Given the description of an element on the screen output the (x, y) to click on. 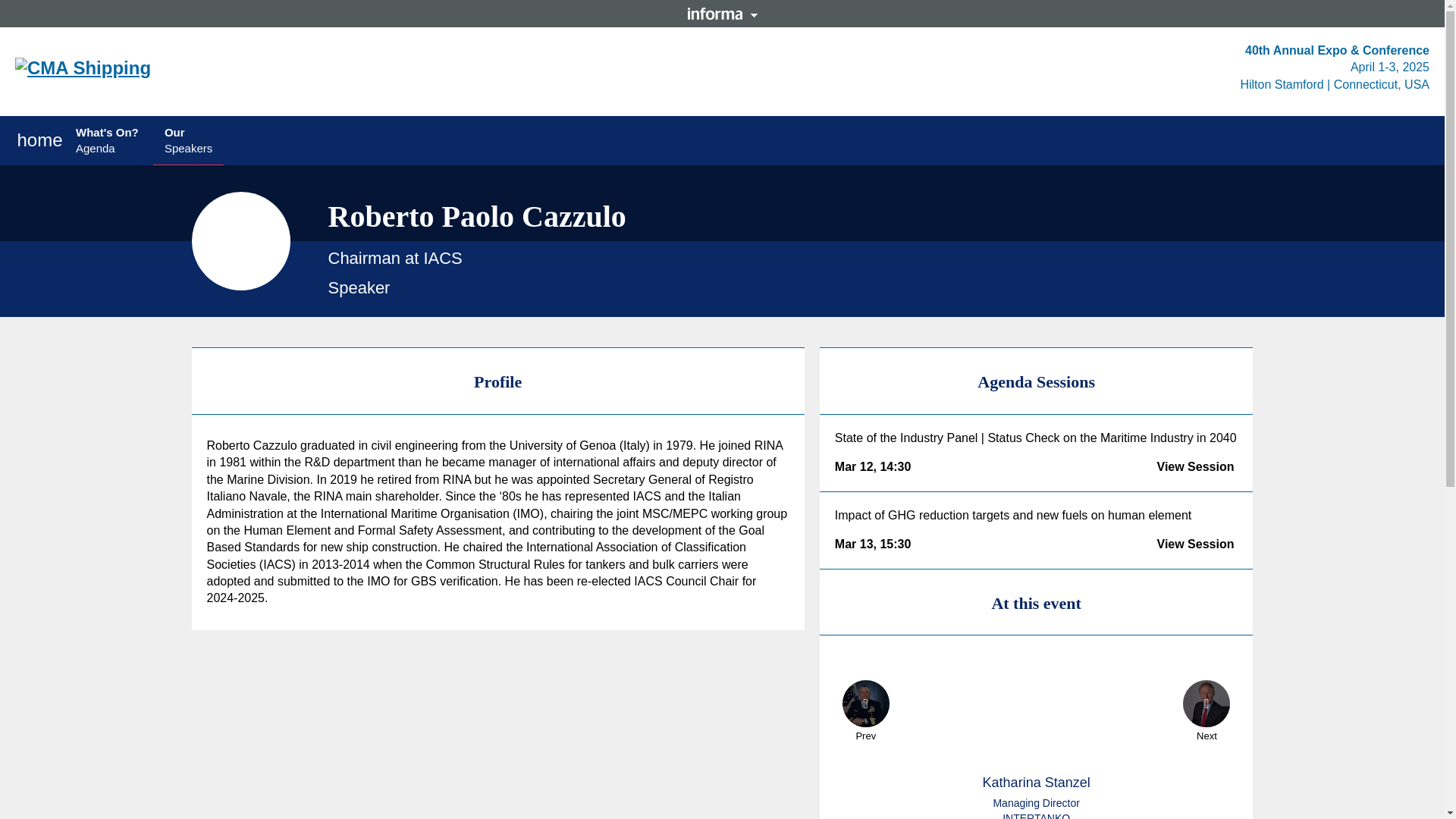
home (108, 140)
